Given the description of an element on the screen output the (x, y) to click on. 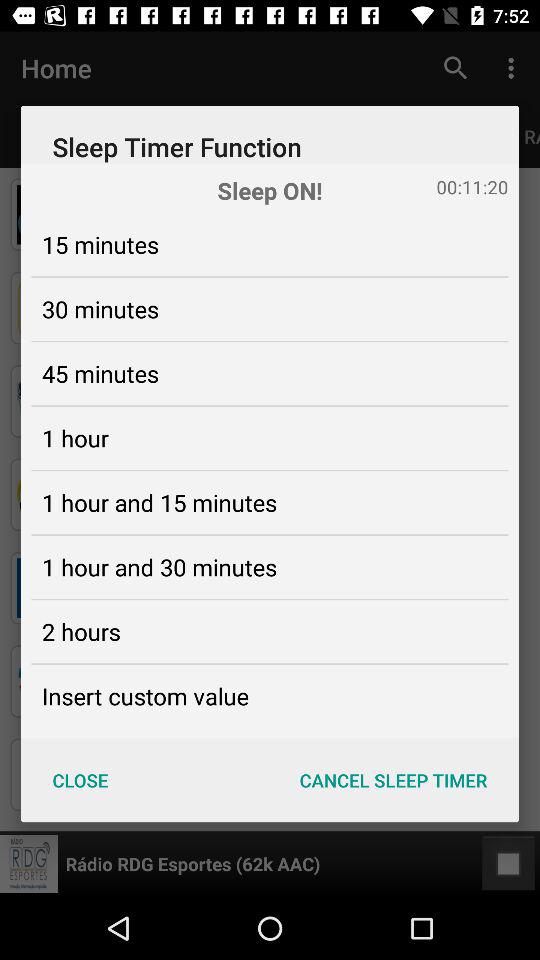
flip to insert custom value icon (145, 696)
